Given the description of an element on the screen output the (x, y) to click on. 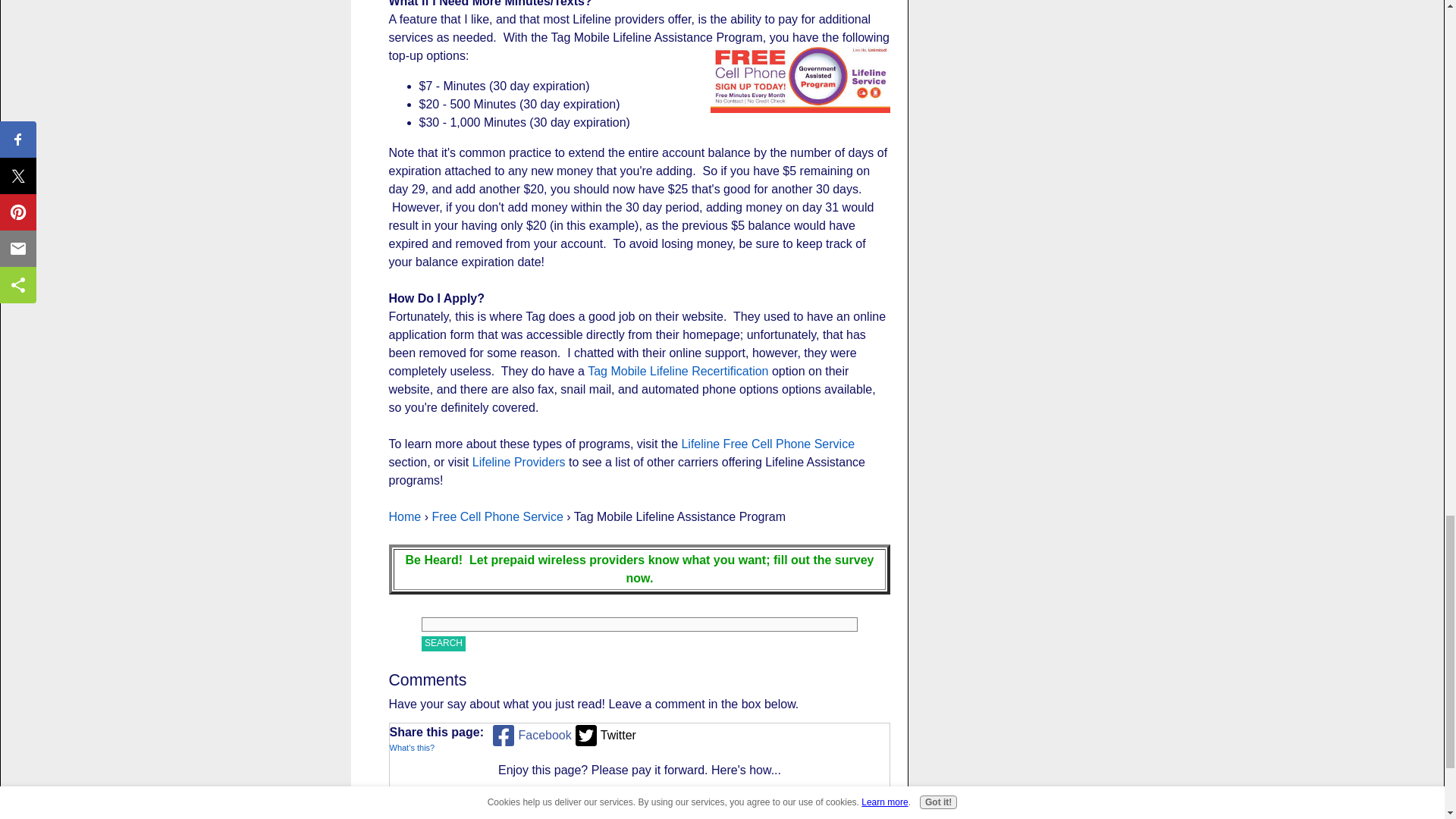
Search (443, 643)
